Given the description of an element on the screen output the (x, y) to click on. 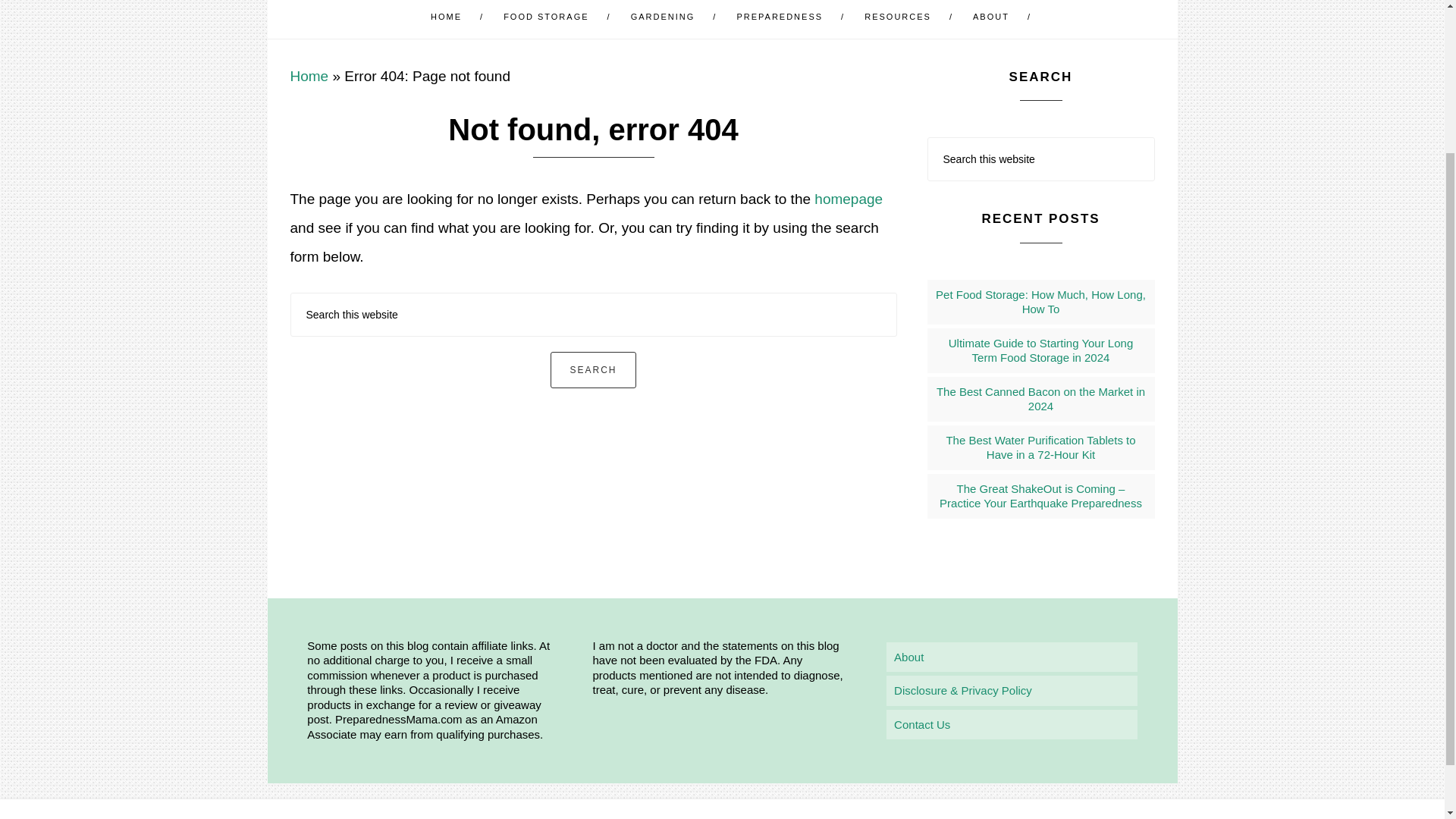
ABOUT (992, 19)
FOOD STORAGE (548, 19)
GARDENING (664, 19)
Preparedness Planning for Busy Moms (781, 19)
Search (592, 370)
RESOURCES (900, 19)
HOME (448, 19)
PREPAREDNESS (781, 19)
Search (592, 370)
